Given the description of an element on the screen output the (x, y) to click on. 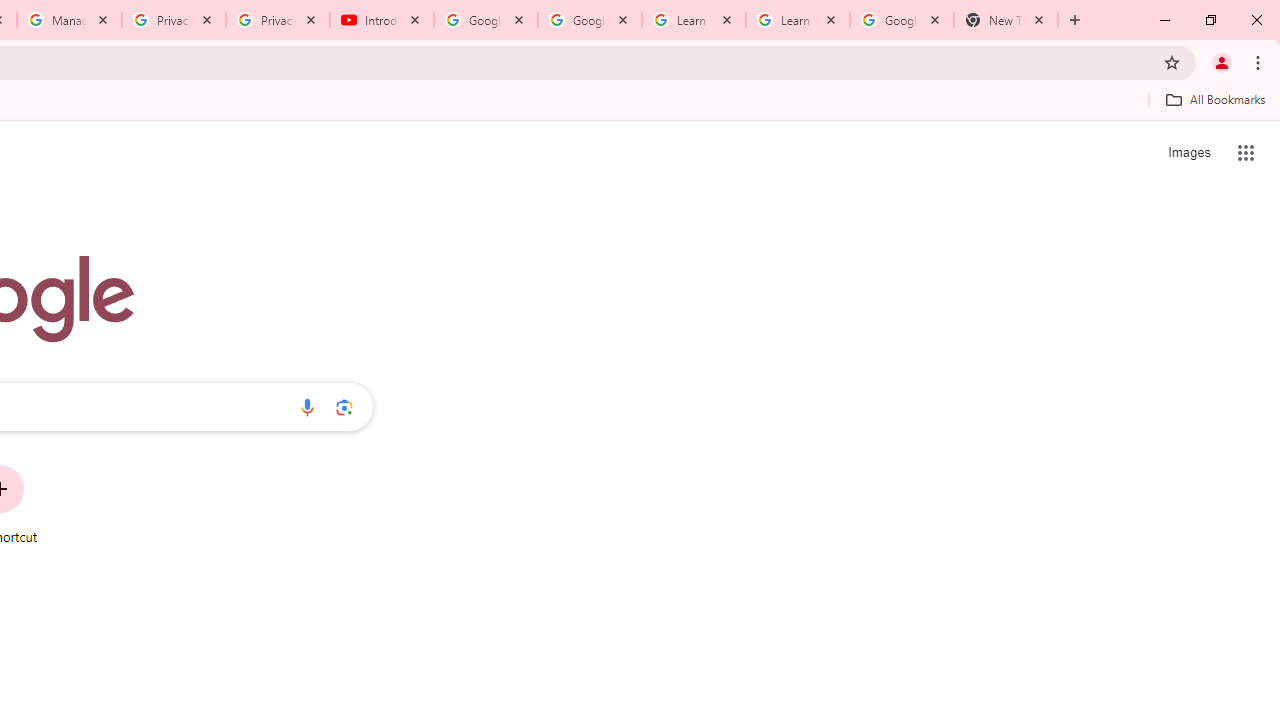
New Tab (1005, 20)
Introduction | Google Privacy Policy - YouTube (381, 20)
